Given the description of an element on the screen output the (x, y) to click on. 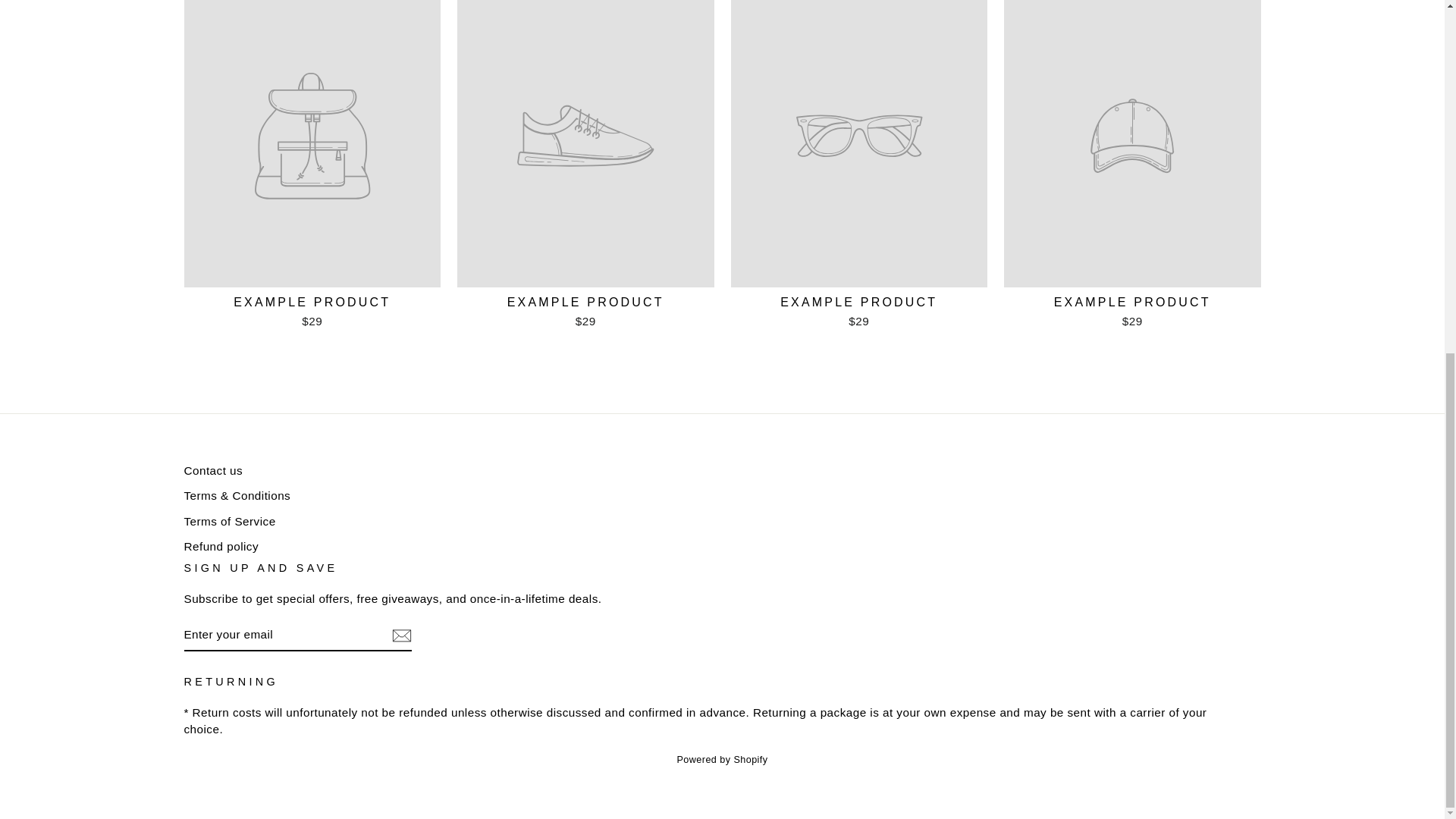
Terms of Service (229, 521)
Contact us (213, 470)
Refund policy (221, 546)
